Given the description of an element on the screen output the (x, y) to click on. 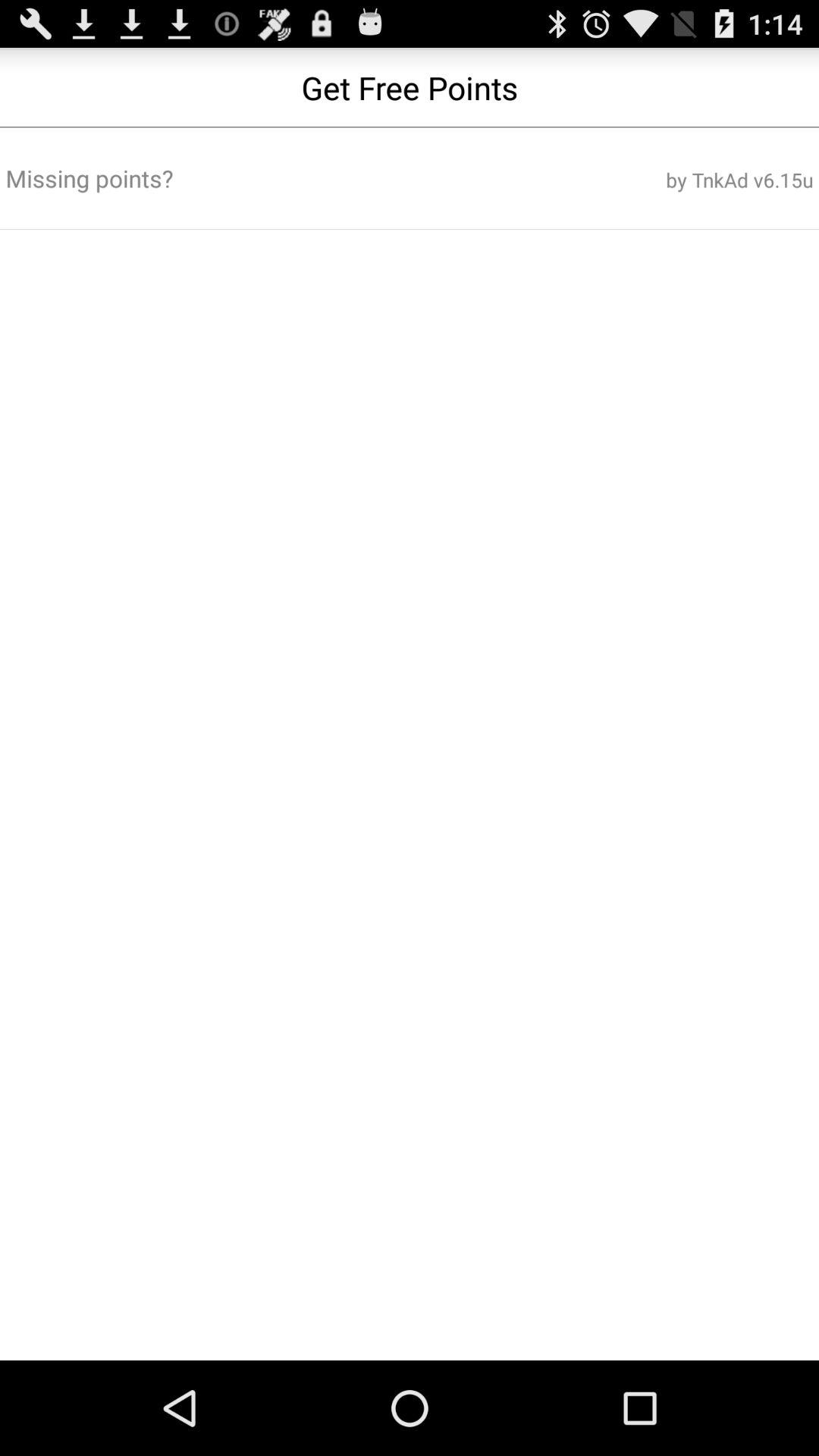
tap the button next to the missing points? icon (677, 180)
